Given the description of an element on the screen output the (x, y) to click on. 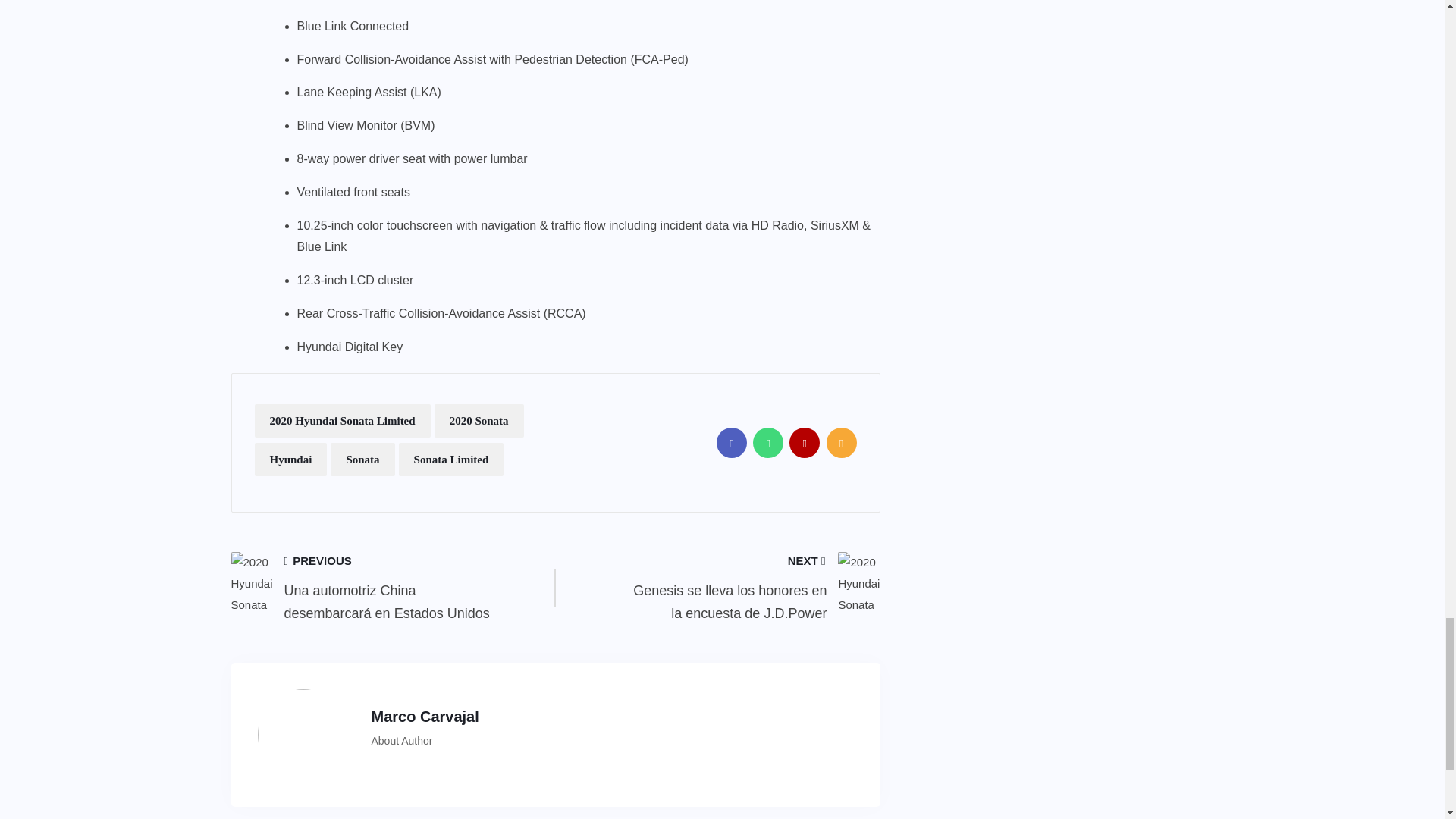
Hyundai (290, 459)
2020 Hyundai Sonata Limited (342, 420)
Sonata Limited (450, 459)
Sonata (362, 459)
2020 Sonata (478, 420)
